Given the description of an element on the screen output the (x, y) to click on. 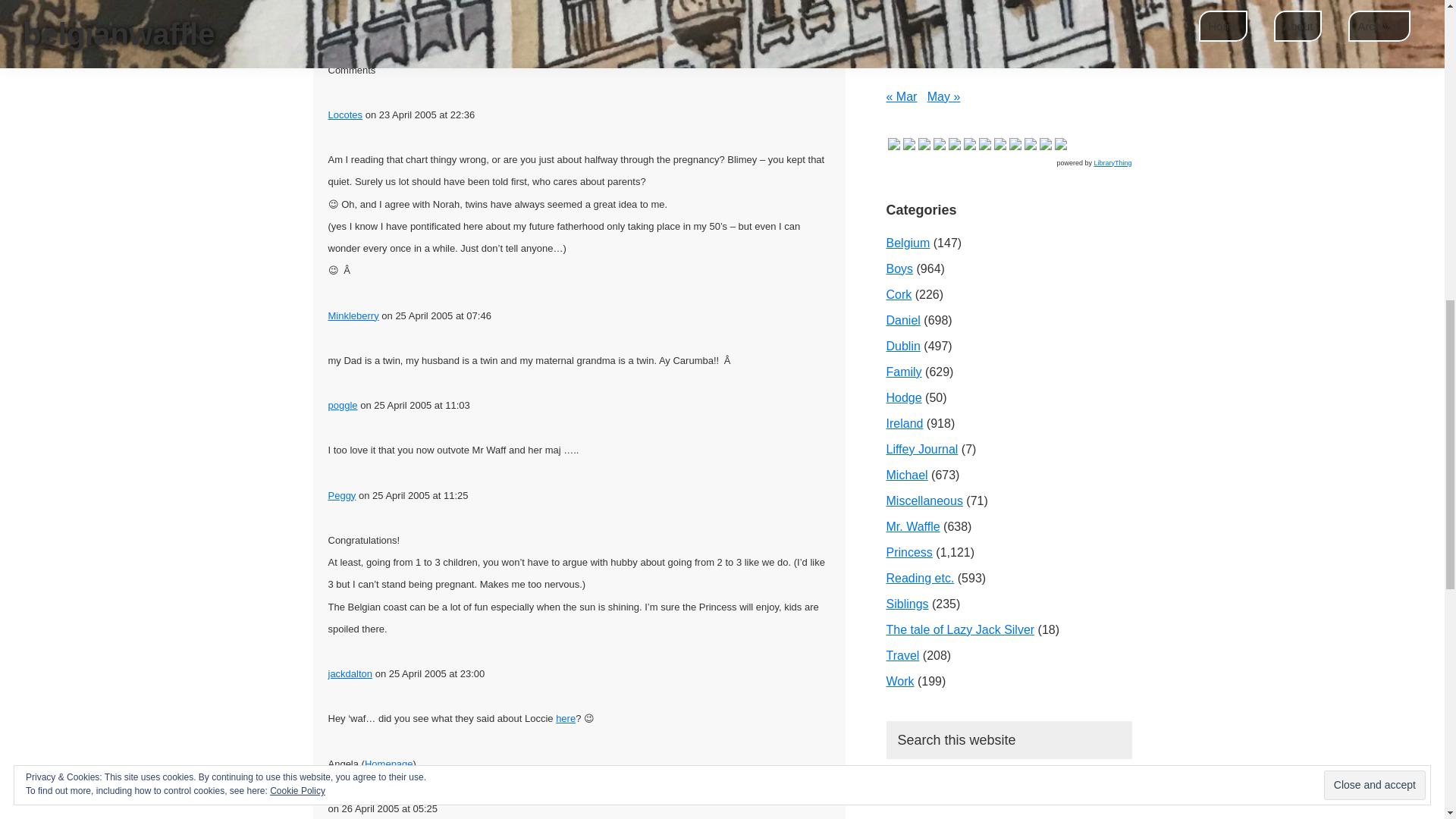
Minkleberry (352, 315)
20 (968, 6)
18 (898, 6)
21 (1004, 6)
Peggy (341, 495)
27 (968, 39)
jackdalton (349, 673)
Locotes (344, 114)
